Given the description of an element on the screen output the (x, y) to click on. 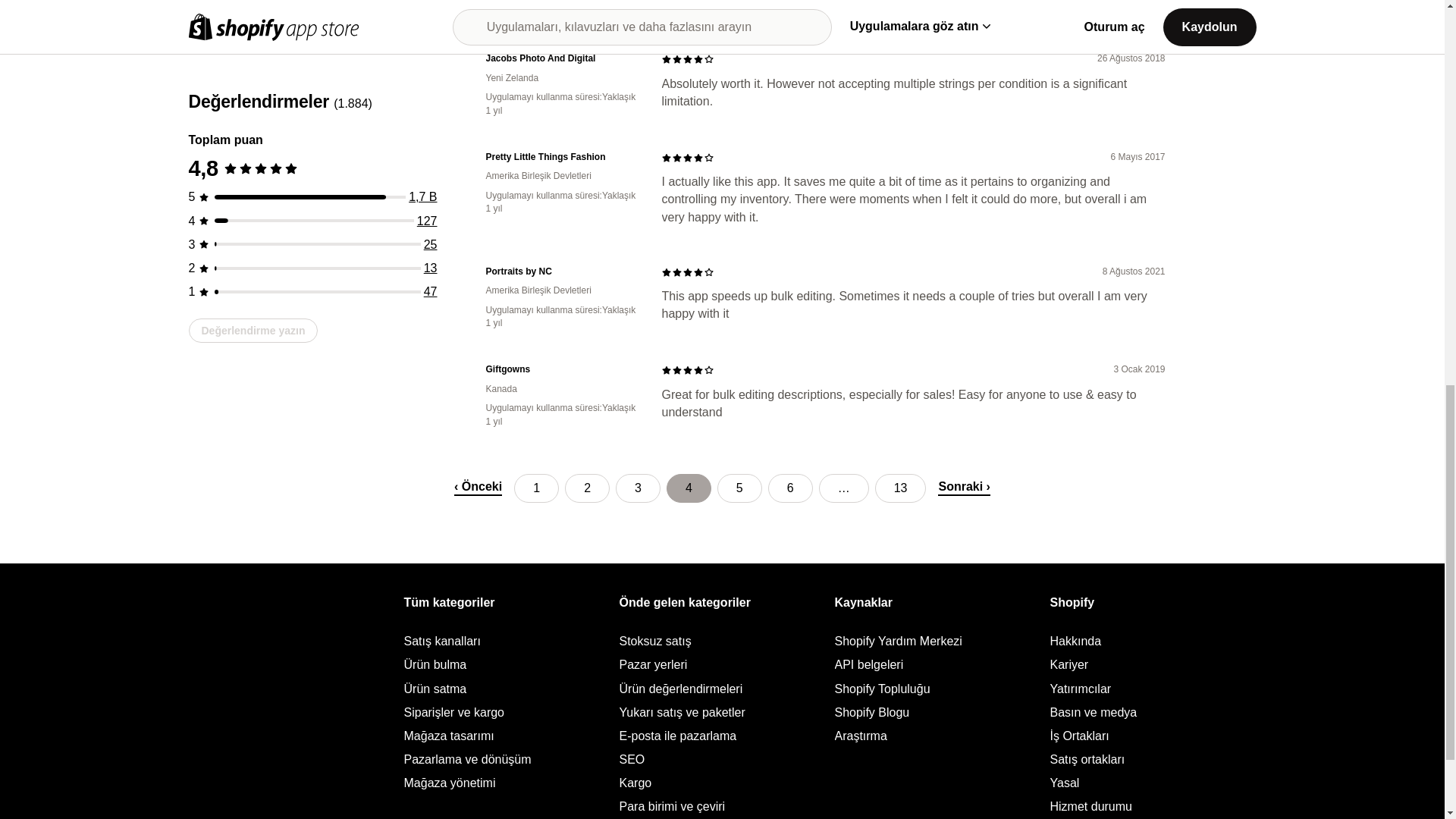
Giftgowns (560, 369)
Jacobs Photo And Digital (560, 58)
Pretty Little Things Fashion (560, 156)
Portraits by NC (560, 271)
